Given the description of an element on the screen output the (x, y) to click on. 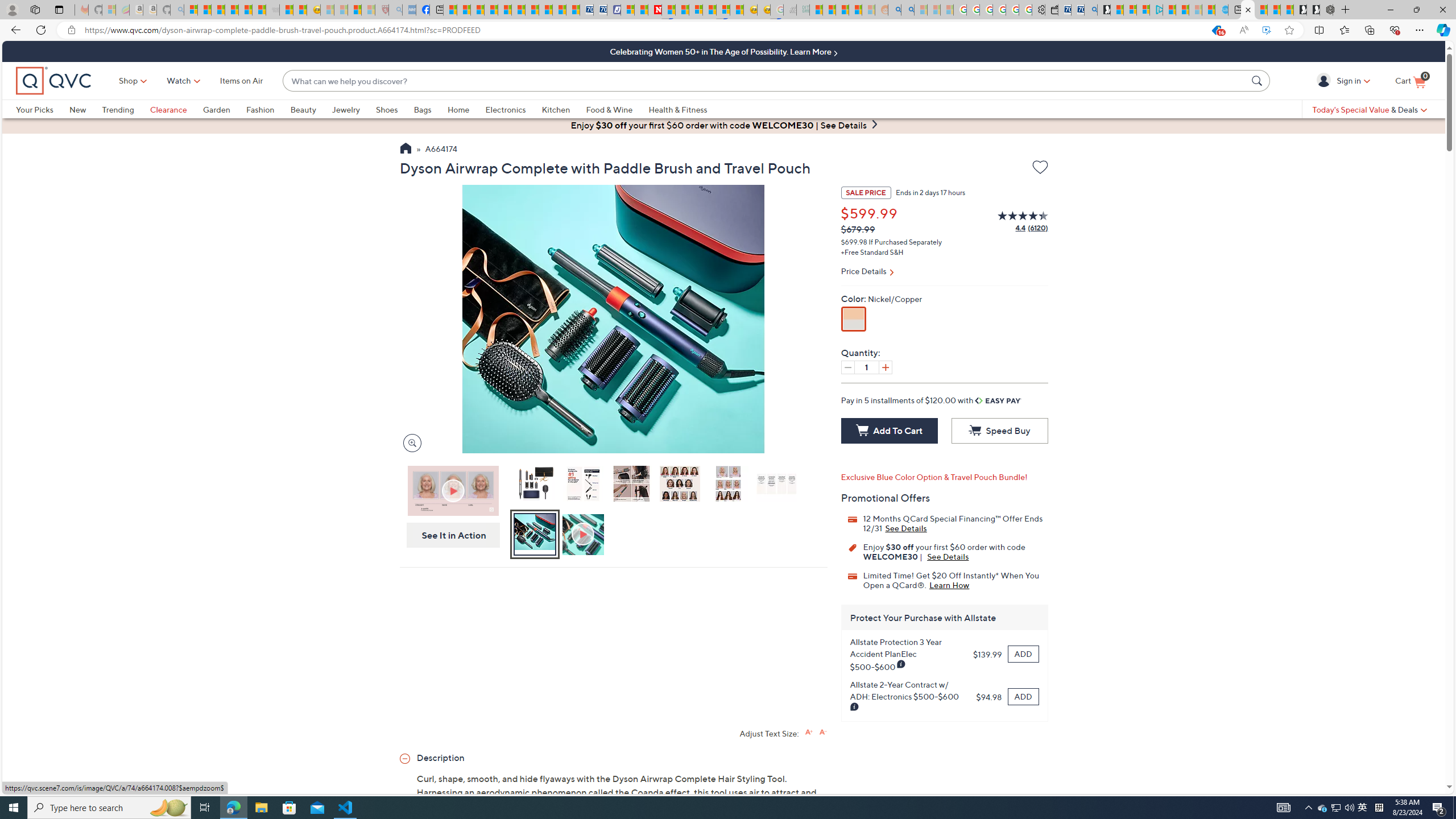
Microsoft Start Gaming (1103, 9)
The Weather Channel - MSN (218, 9)
Enhance video (1266, 29)
Science - MSN (354, 9)
Bags (429, 109)
14 Common Myths Debunked By Scientific Facts (682, 9)
Cart is Empty  (1409, 81)
Shop (129, 80)
Student Loan Update: Forgiveness Program Ends This Month (855, 9)
Increase font size (808, 731)
Quantity (866, 367)
